Given the description of an element on the screen output the (x, y) to click on. 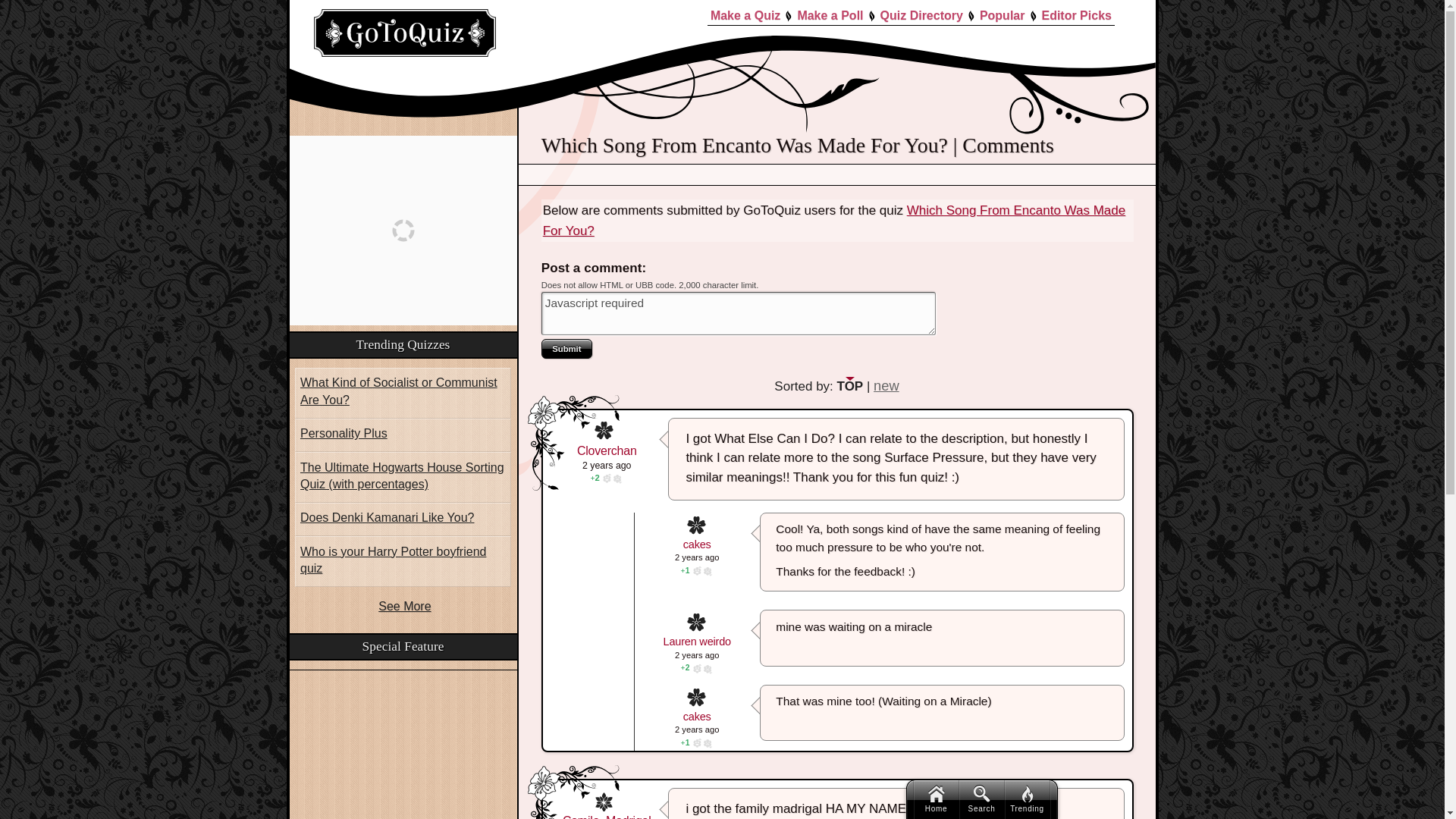
Make a Quiz (745, 15)
Make a Poll (829, 15)
See More (404, 605)
Quiz Directory (921, 15)
Does Denki Kamanari Like You? (403, 519)
Trending (1026, 799)
new (886, 385)
What Kind of Socialist or Communist Are You? (403, 392)
Lauren weirdo (696, 641)
Home (935, 799)
